Given the description of an element on the screen output the (x, y) to click on. 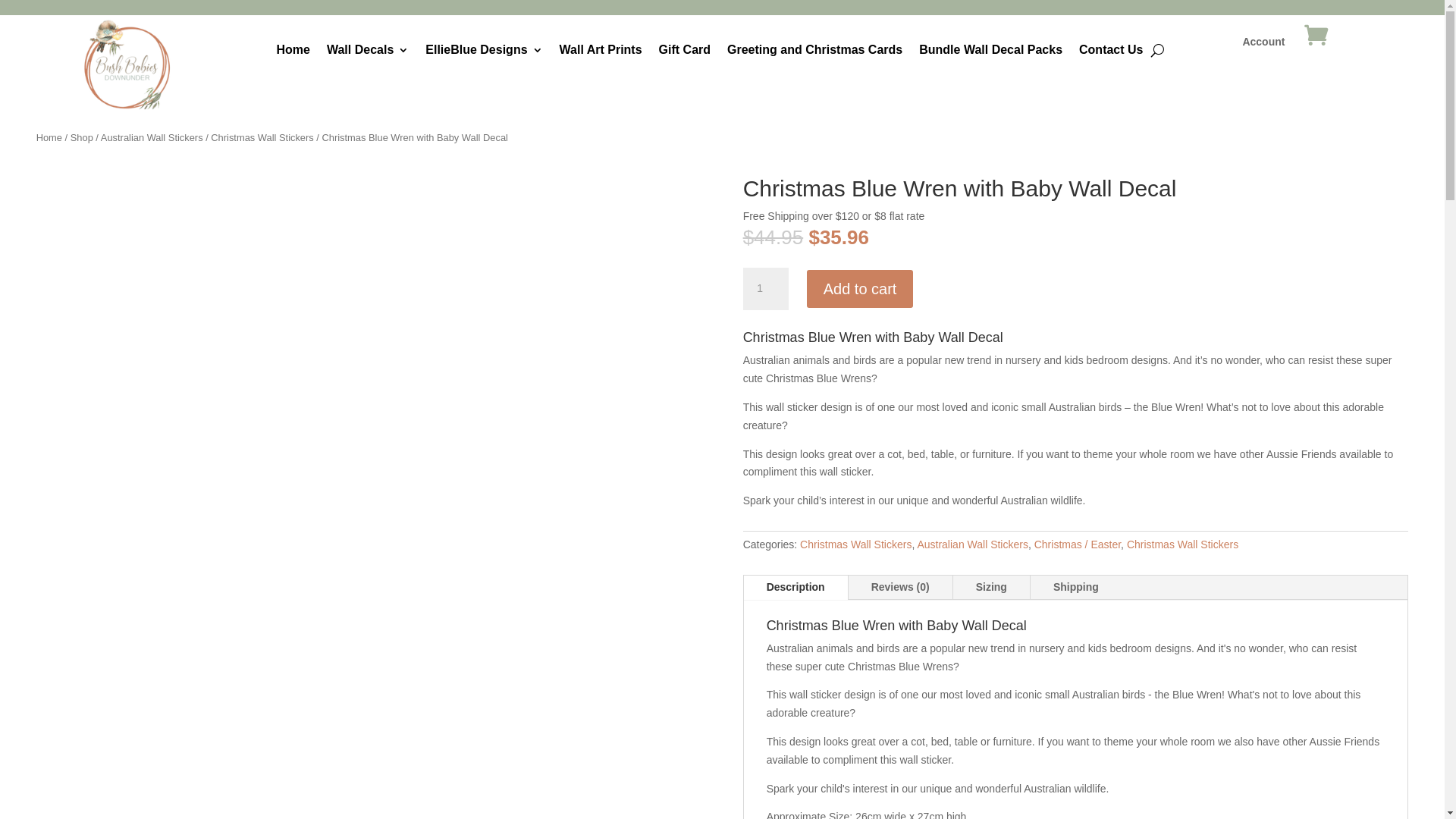
Bundle Wall Decal Packs Element type: text (990, 52)
Home Element type: text (49, 137)
Untitled design (1) Element type: hover (127, 63)
Reviews (0) Element type: text (900, 587)
Wall Art Prints Element type: text (600, 52)
Description Element type: text (795, 587)
Christmas Wall Stickers Element type: text (261, 137)
EllieBlue Designs Element type: text (483, 52)
Shipping Element type: text (1075, 587)
Home Element type: text (292, 52)
Shop Element type: text (81, 137)
Sizing Element type: text (991, 587)
Contact Us Element type: text (1110, 52)
My Basket Element type: hover (1315, 52)
Account Element type: text (1263, 52)
Gift Card Element type: text (684, 52)
Christmas / Easter Element type: text (1077, 544)
Wall Decals Element type: text (367, 52)
Australian Wall Stickers Element type: text (151, 137)
Add to cart Element type: text (859, 288)
Australian Wall Stickers Element type: text (972, 544)
Christmas Wall Stickers Element type: text (855, 544)
Greeting and Christmas Cards Element type: text (814, 52)
Christmas Wall Stickers Element type: text (1182, 544)
